Given the description of an element on the screen output the (x, y) to click on. 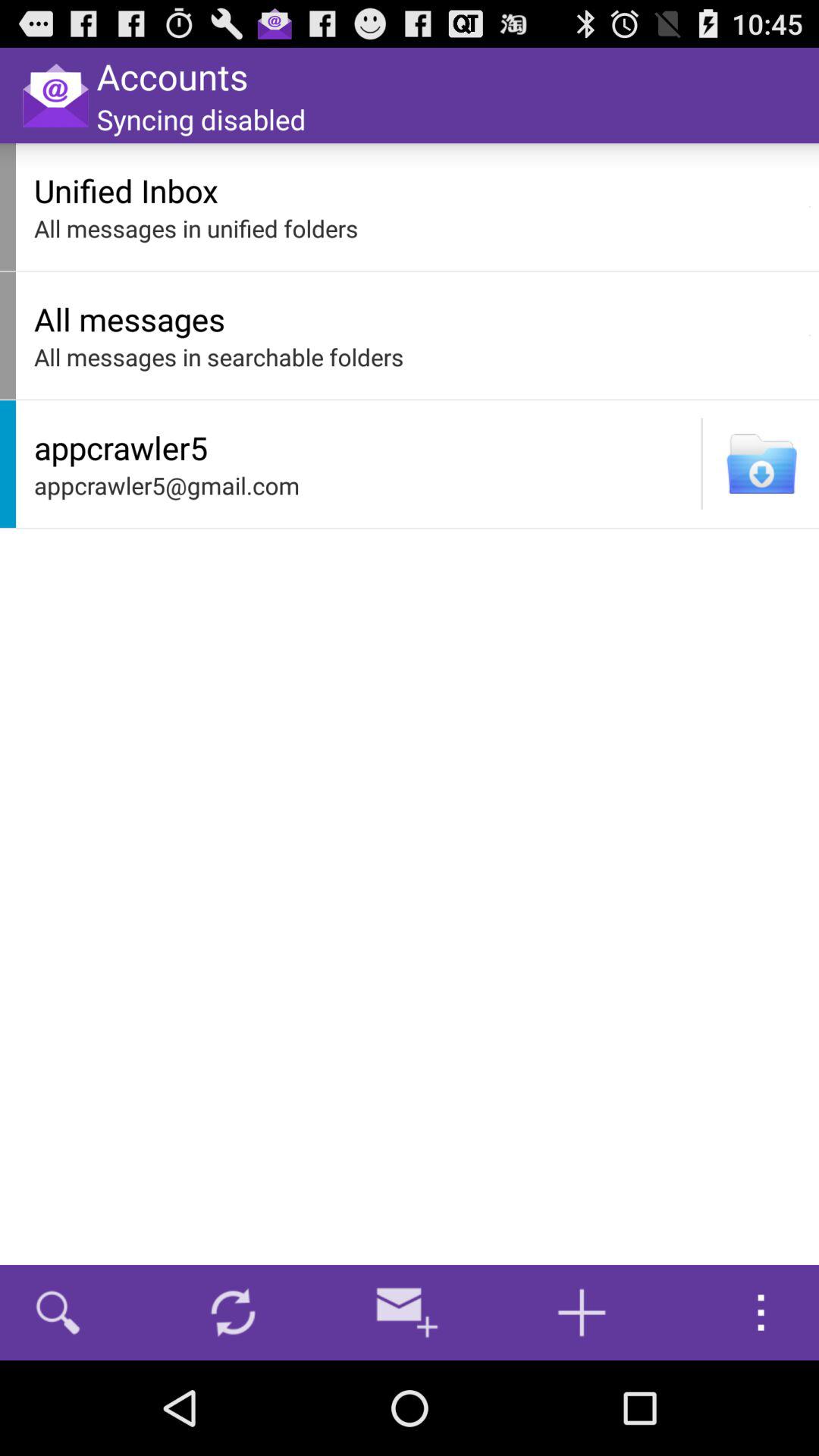
press icon below the appcrawler5 item (363, 485)
